Given the description of an element on the screen output the (x, y) to click on. 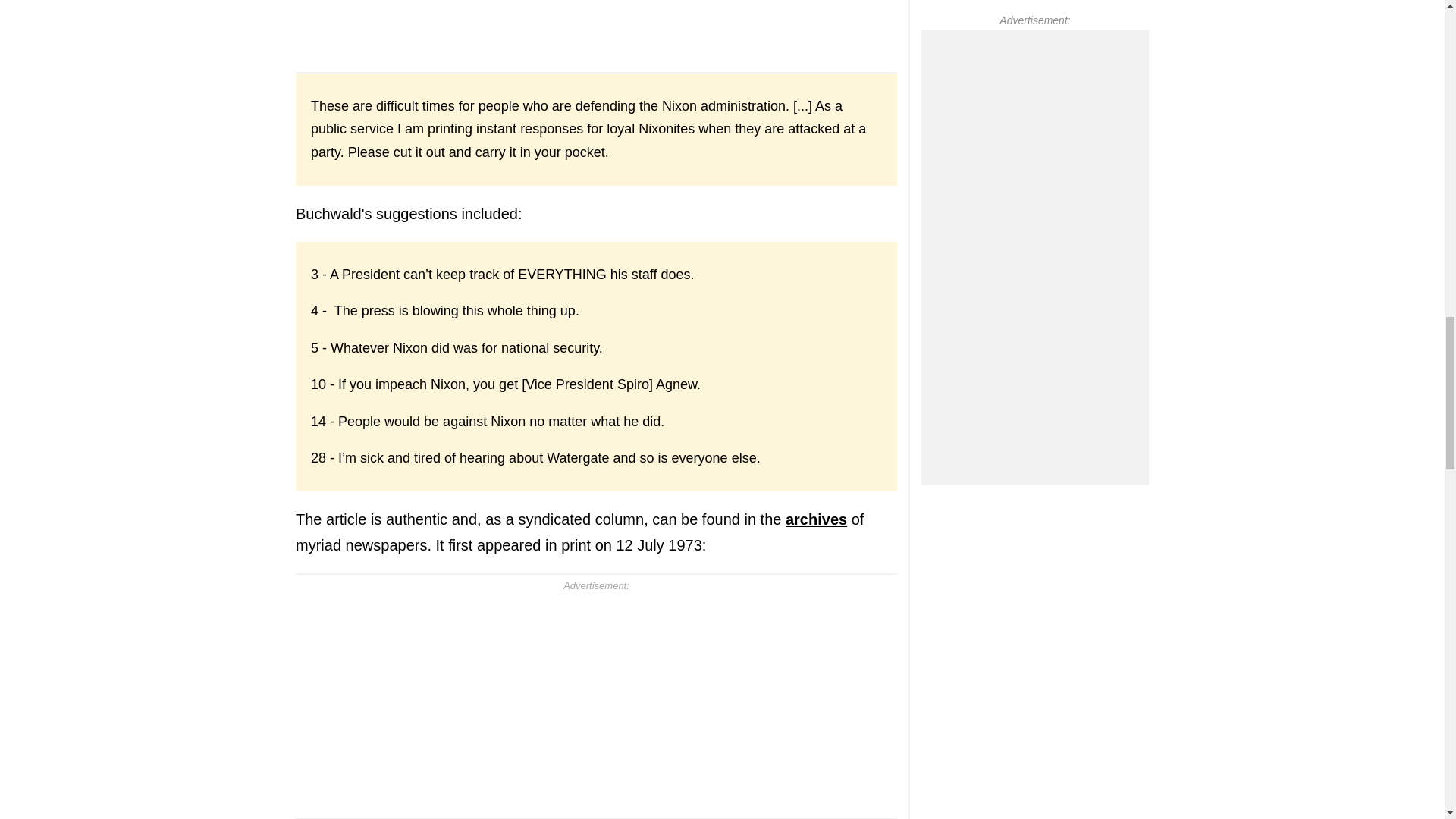
archives (816, 519)
